Given the description of an element on the screen output the (x, y) to click on. 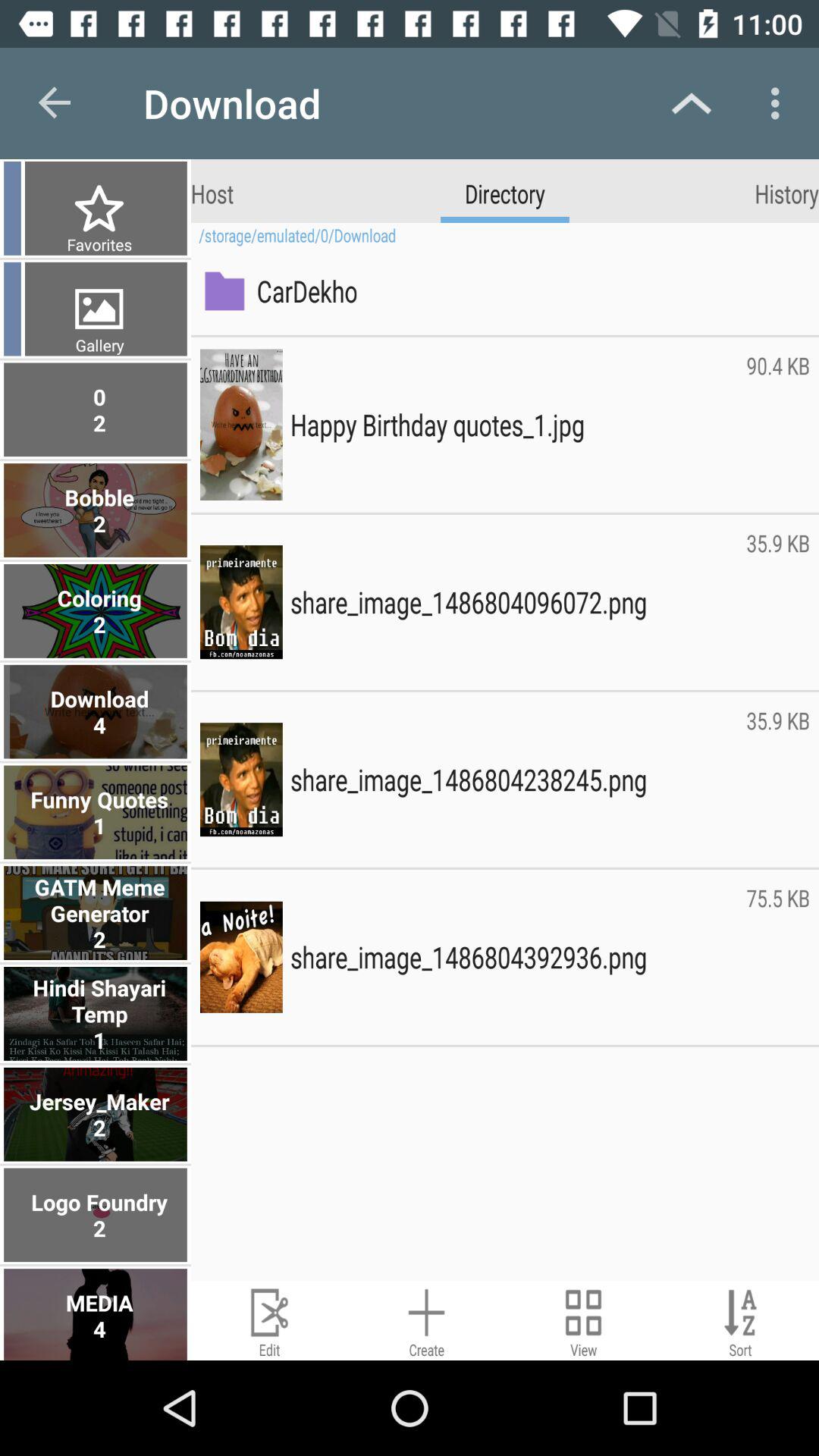
turn on icon to the right of the directory item (786, 193)
